Given the description of an element on the screen output the (x, y) to click on. 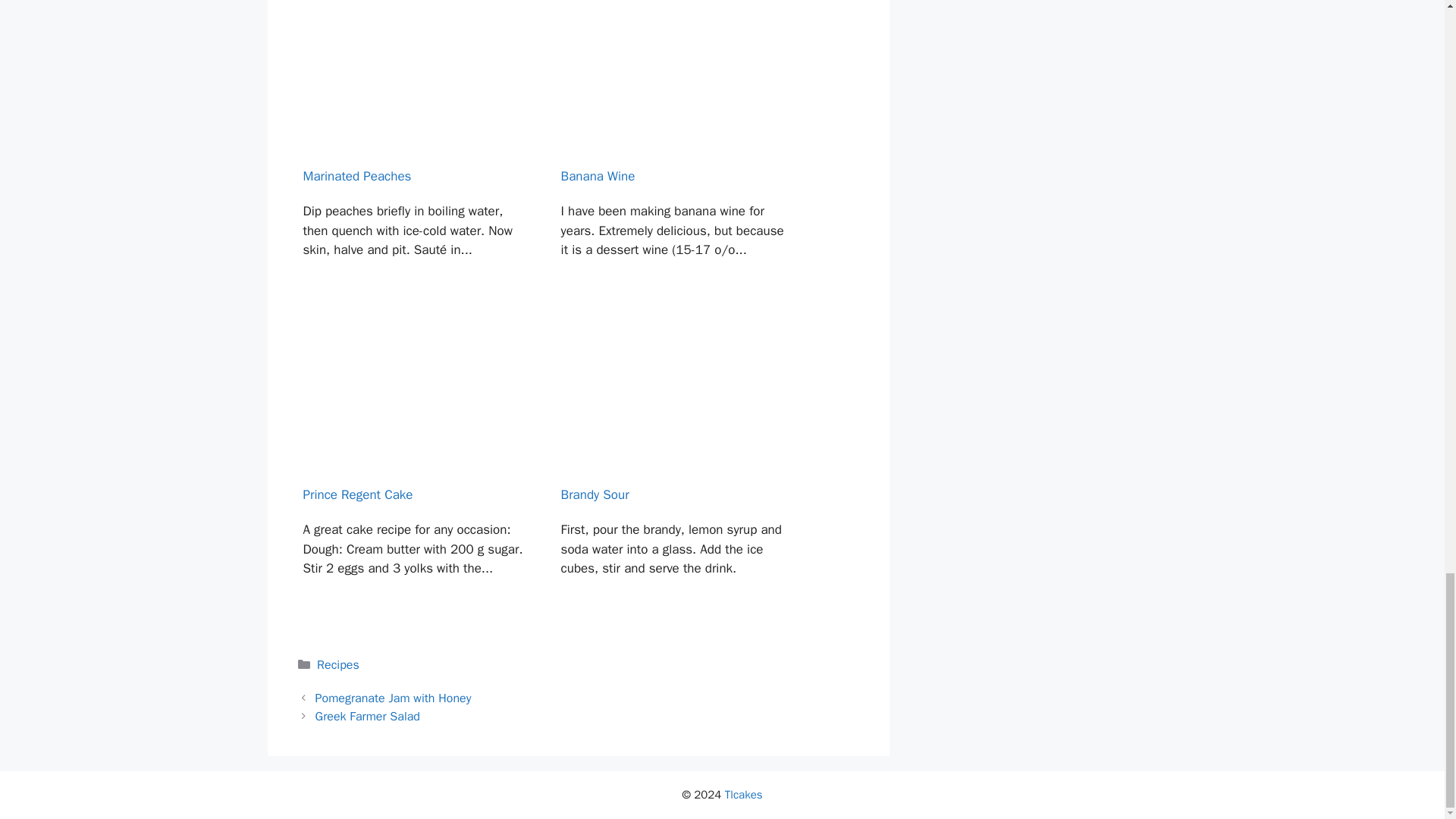
Marinated Peaches (414, 156)
Recipes (338, 664)
Greek Farmer Salad (367, 716)
Brandy Sour (673, 474)
Pomegranate Jam with Honey (393, 698)
Prince Regent Cake (414, 474)
Banana Wine (673, 156)
